Given the description of an element on the screen output the (x, y) to click on. 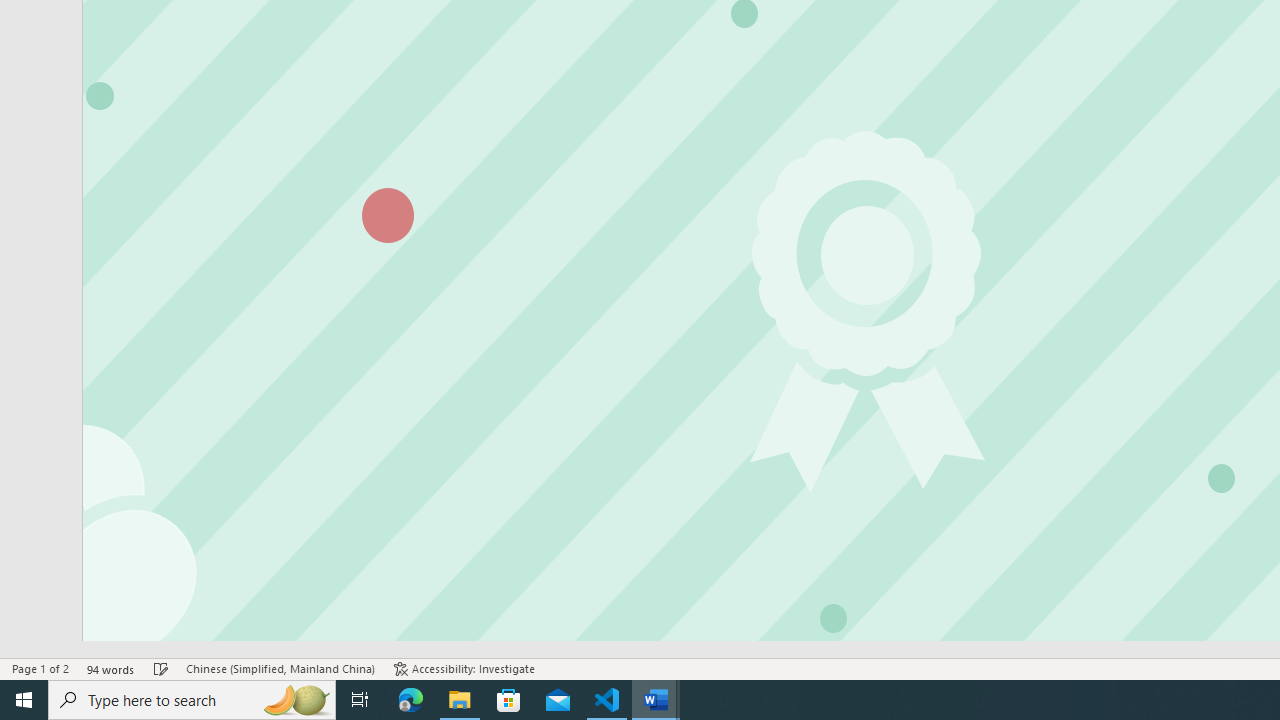
Accessibility Checker Accessibility: Investigate (464, 668)
Page Number Page 1 of 2 (39, 668)
Language Chinese (Simplified, Mainland China) (279, 668)
Word Count 94 words (111, 668)
Spelling and Grammar Check Checking (161, 668)
